Given the description of an element on the screen output the (x, y) to click on. 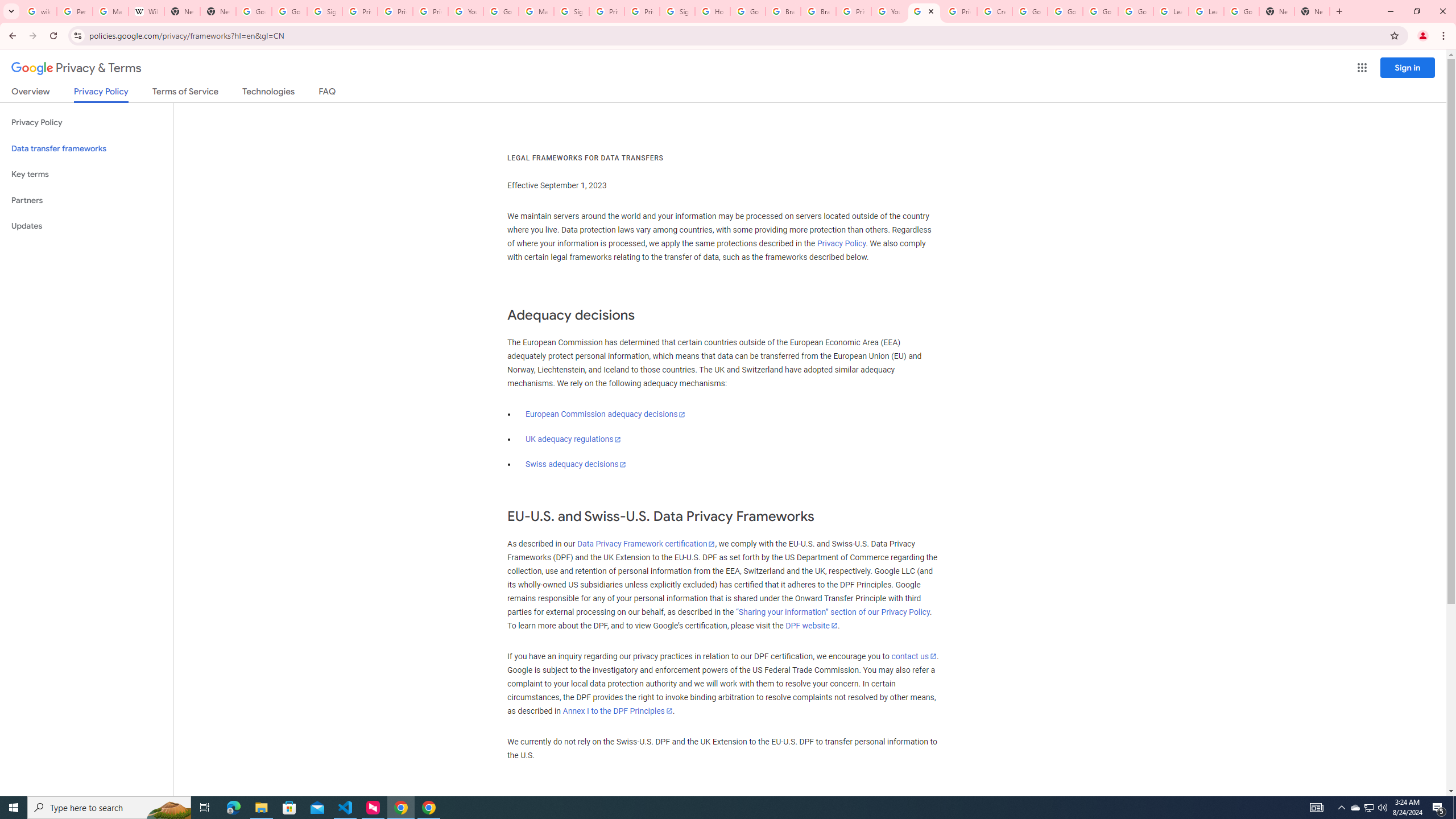
Google Drive: Sign-in (288, 11)
Data Privacy Framework certification (645, 543)
Google Account Help (1064, 11)
contact us (913, 656)
New Tab (1276, 11)
Sign in - Google Accounts (571, 11)
